Given the description of an element on the screen output the (x, y) to click on. 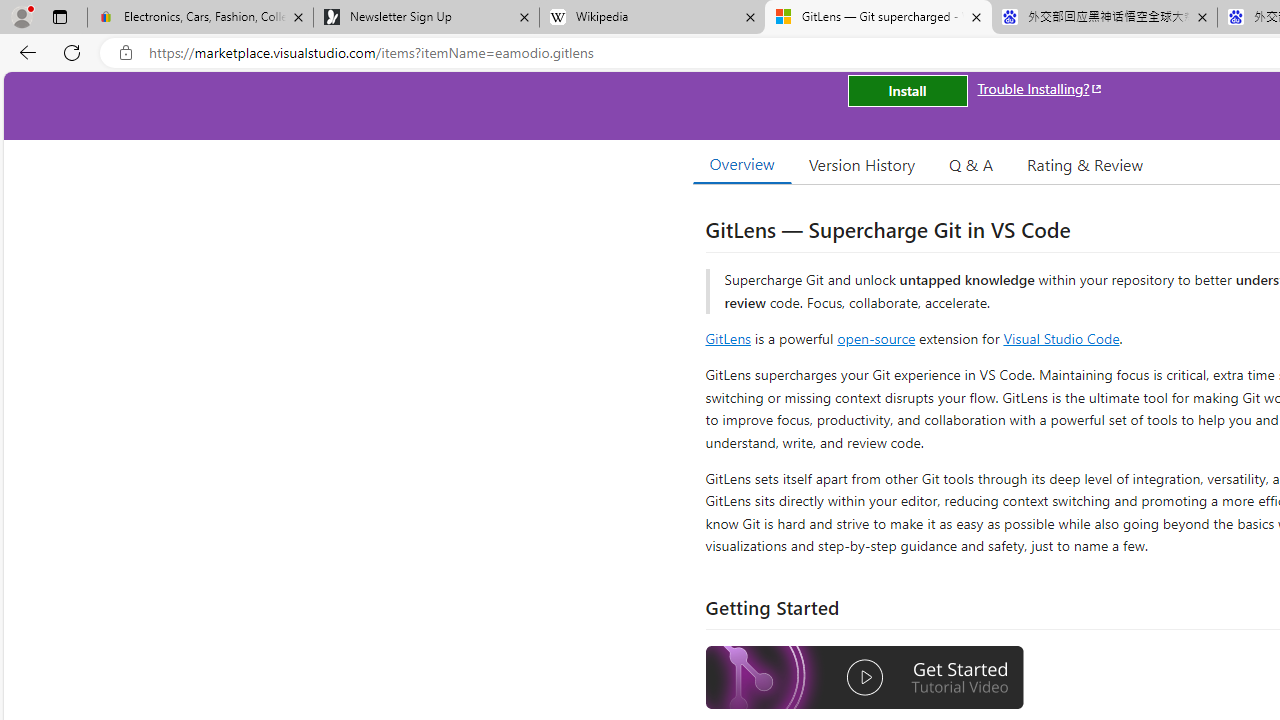
Version History (862, 164)
Newsletter Sign Up (425, 17)
Q & A (971, 164)
